Given the description of an element on the screen output the (x, y) to click on. 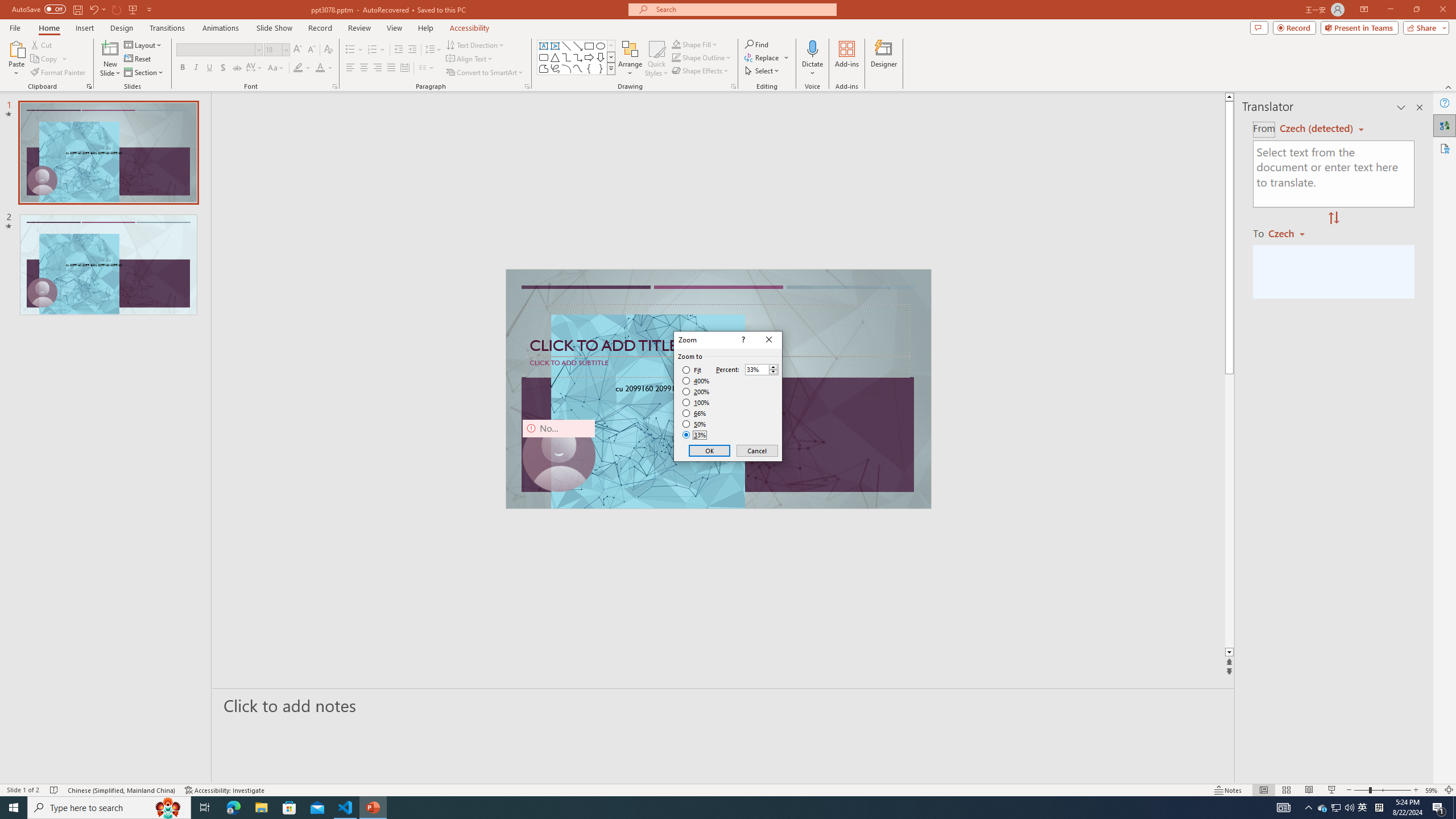
Slide Notes (724, 705)
Clear Formatting (327, 49)
Running applications (700, 807)
